Given the description of an element on the screen output the (x, y) to click on. 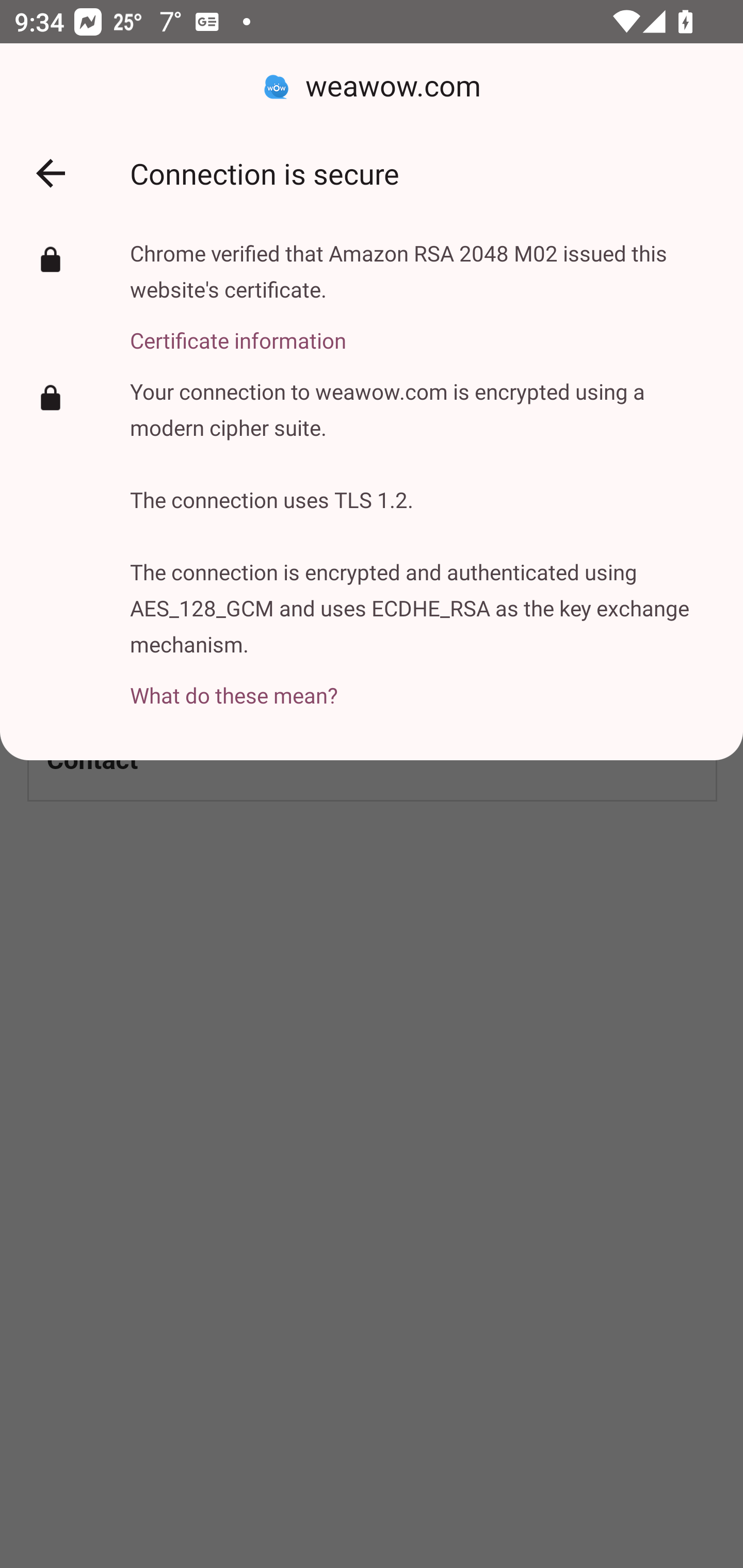
weawow.com (371, 86)
Back (50, 173)
Certificate information (422, 329)
What do these mean? (422, 684)
